Given the description of an element on the screen output the (x, y) to click on. 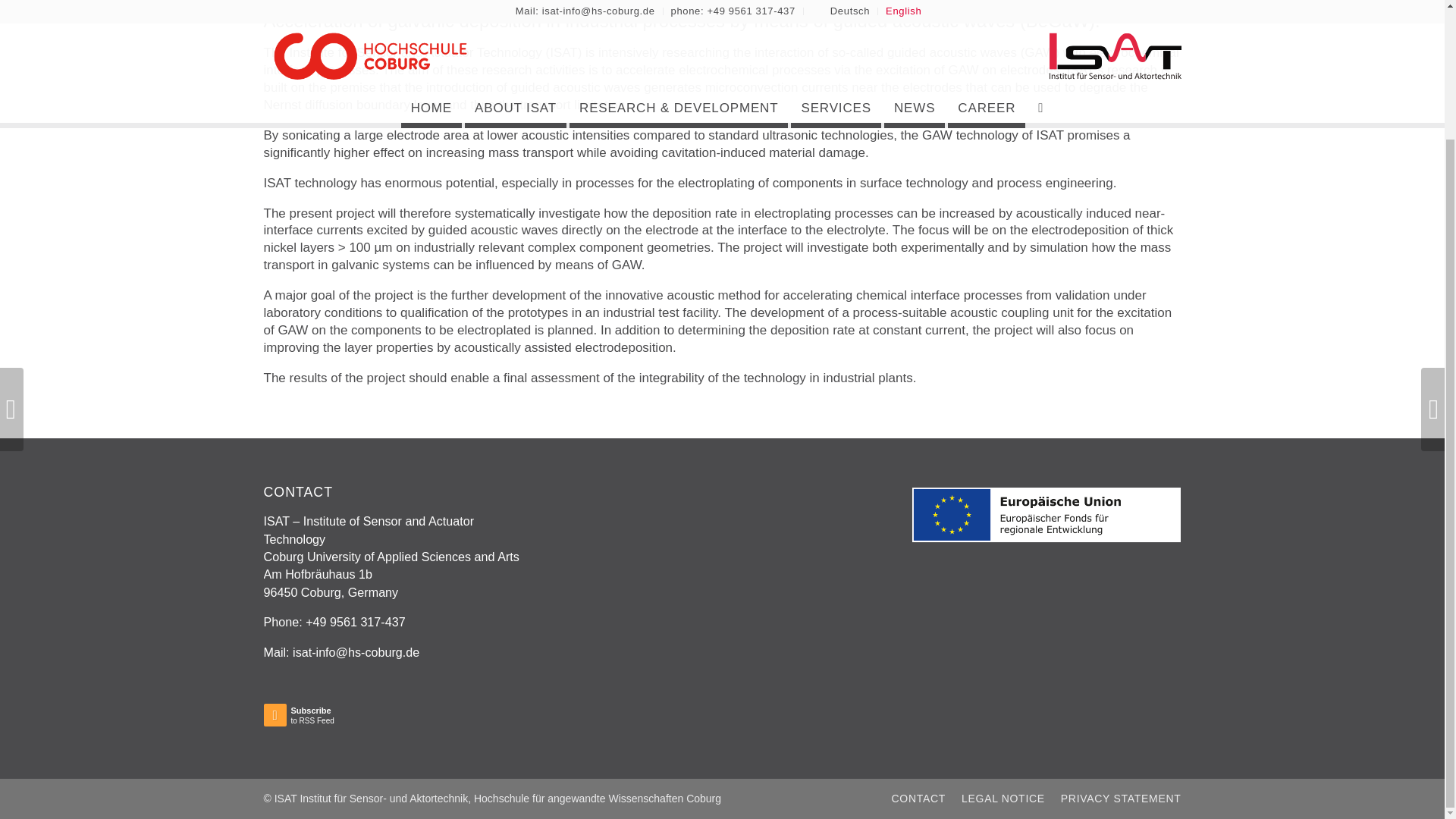
PRIVACY STATEMENT (1120, 798)
LEGAL NOTICE (330, 718)
CONTACT (1002, 798)
